Given the description of an element on the screen output the (x, y) to click on. 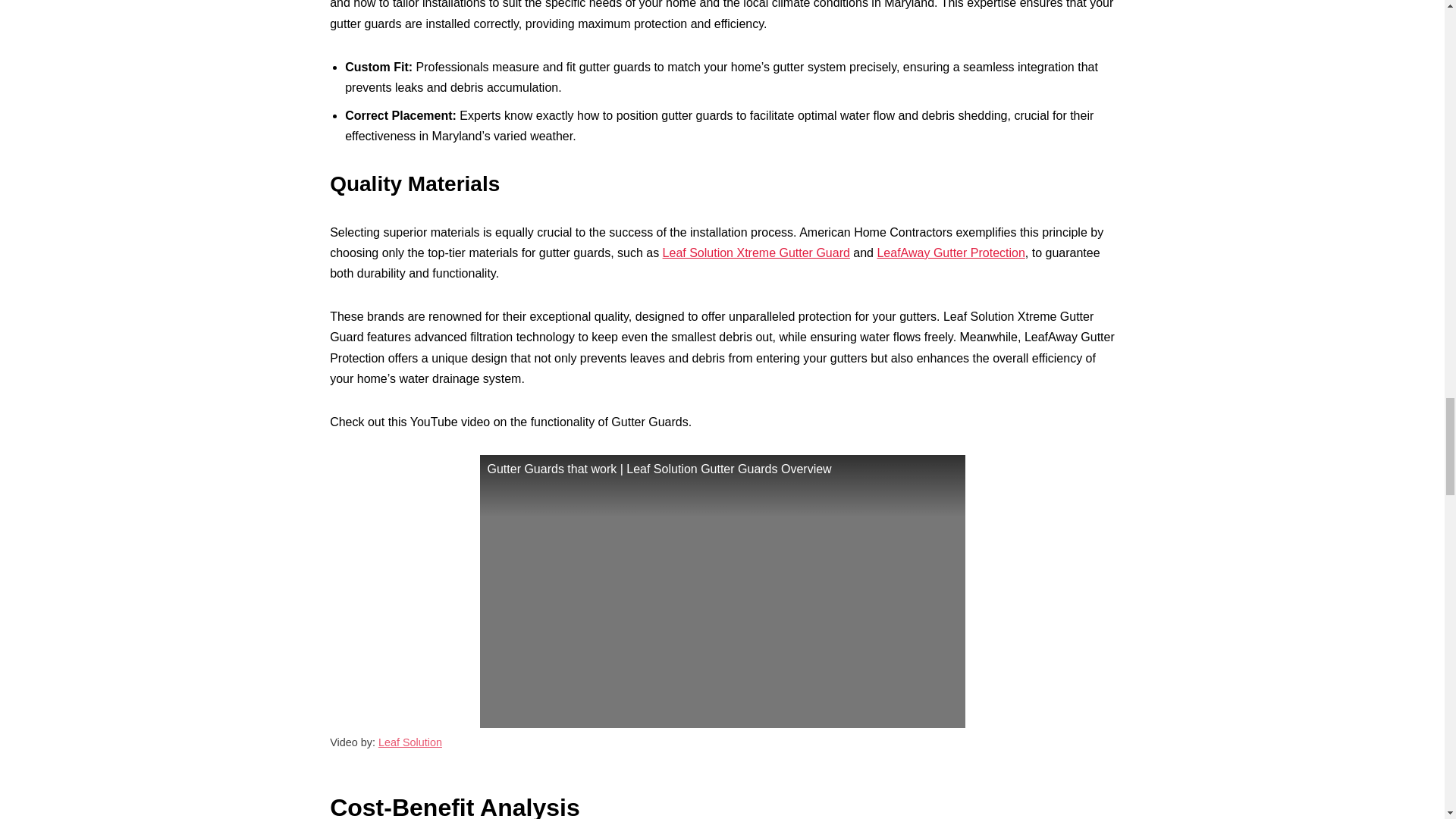
Leaf Solution (410, 742)
Leaf Solution Xtreme Gutter Guard (756, 252)
LeafAway Gutter Protection (950, 252)
